Given the description of an element on the screen output the (x, y) to click on. 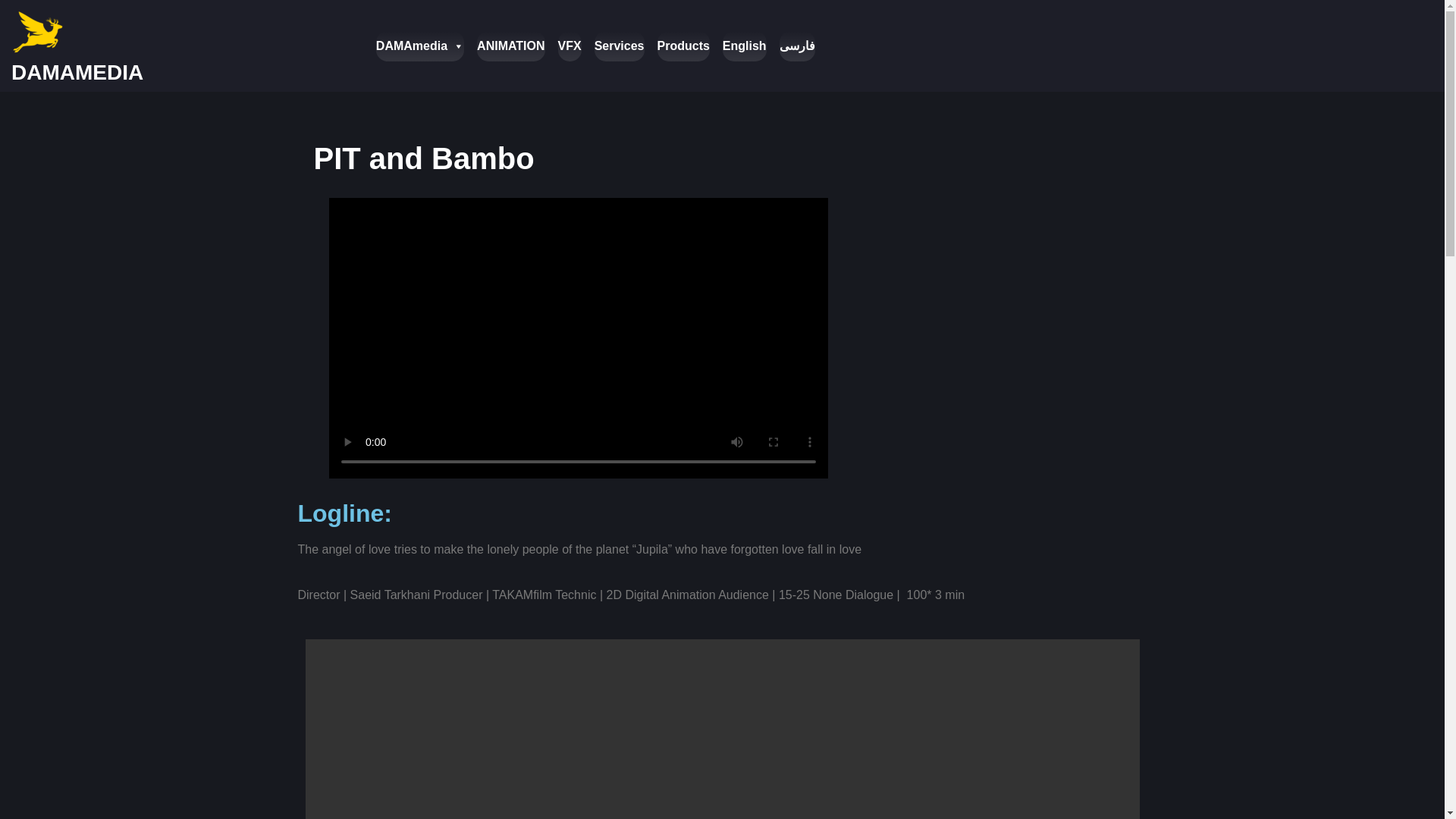
English (744, 45)
DAMAmedia (419, 45)
Services (619, 45)
DAMAMEDIA (76, 72)
ANIMATION (510, 45)
DAMAMEDIA (76, 72)
Products (684, 45)
